Given the description of an element on the screen output the (x, y) to click on. 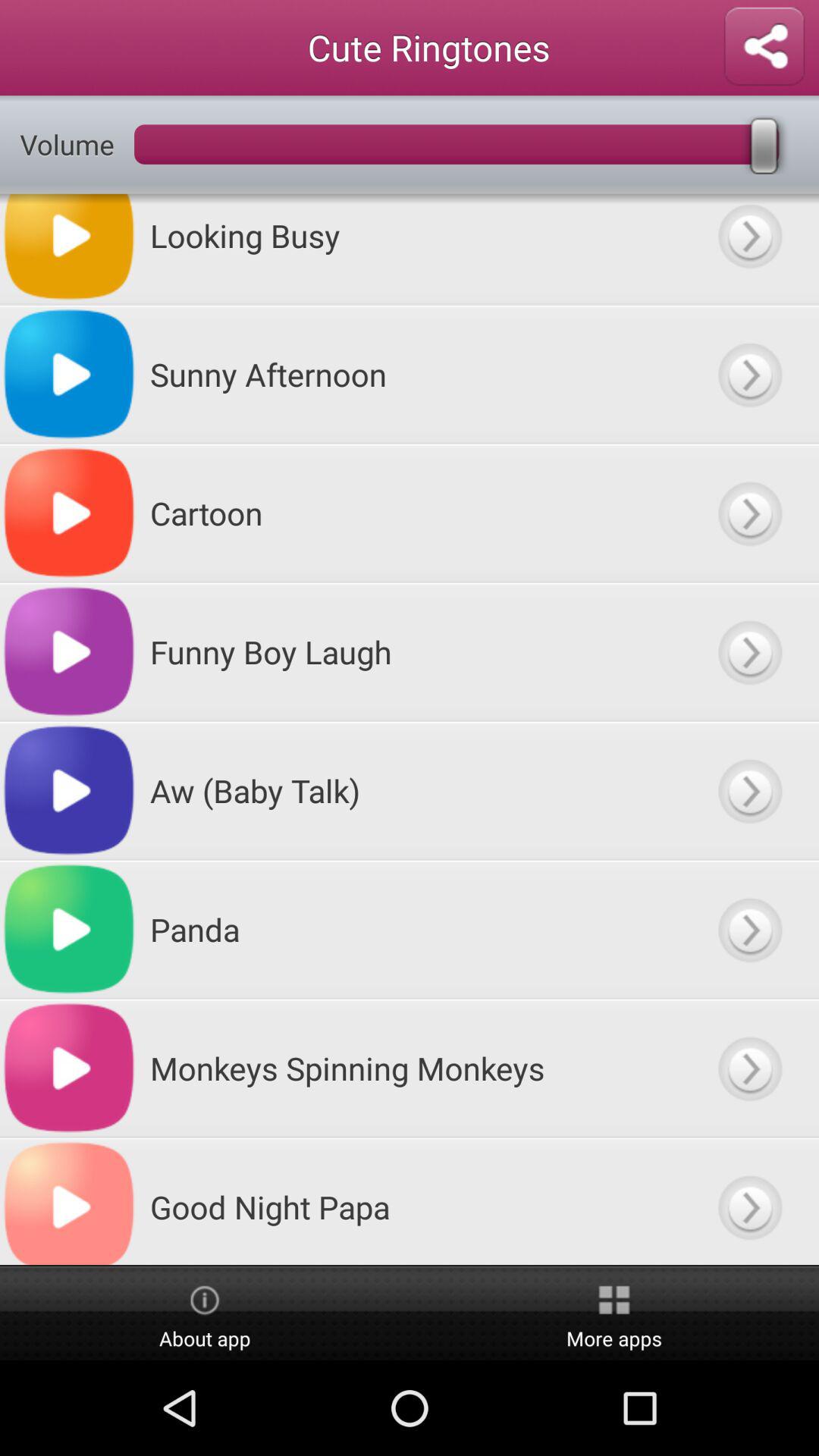
go to next (749, 248)
